Given the description of an element on the screen output the (x, y) to click on. 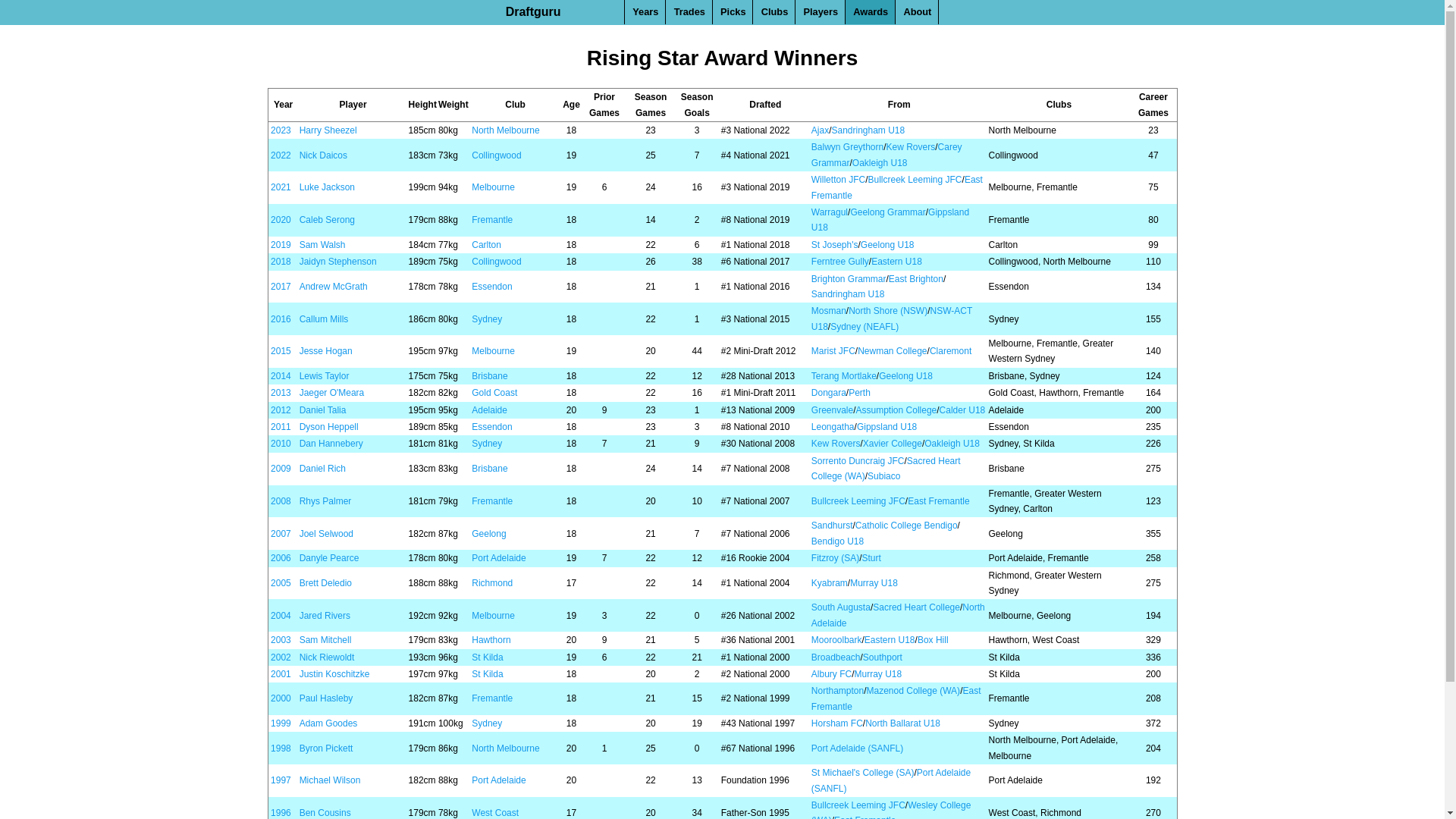
2023 Element type: text (280, 130)
Justin Koschitzke Element type: text (334, 673)
Sydney Element type: text (486, 443)
Willetton JFC Element type: text (838, 179)
Claremont Element type: text (950, 350)
2004 Element type: text (280, 615)
South Augusta Element type: text (840, 607)
Adam Goodes Element type: text (328, 723)
Ben Cousins Element type: text (325, 812)
Port Adelaide (SANFL) Element type: text (857, 748)
Mosman Element type: text (828, 310)
Fremantle Element type: text (491, 219)
Melbourne Element type: text (492, 615)
Oakleigh U18 Element type: text (879, 162)
2007 Element type: text (280, 533)
St Kilda Element type: text (486, 657)
Fremantle Element type: text (491, 698)
Luke Jackson Element type: text (326, 187)
Adelaide Element type: text (489, 409)
Sturt Element type: text (870, 557)
2017 Element type: text (280, 286)
Box Hill Element type: text (932, 639)
1997 Element type: text (280, 780)
Kyabram Element type: text (829, 582)
Years Element type: text (645, 12)
2013 Element type: text (280, 392)
Paul Hasleby Element type: text (326, 698)
Bendigo U18 Element type: text (837, 541)
2003 Element type: text (280, 639)
2000 Element type: text (280, 698)
Perth Element type: text (859, 392)
2018 Element type: text (280, 261)
Players Element type: text (820, 12)
Sydney (NEAFL) Element type: text (864, 326)
St Kilda Element type: text (486, 673)
Jaeger O'Meara Element type: text (331, 392)
Sandringham U18 Element type: text (847, 293)
Essendon Element type: text (491, 426)
Nick Riewoldt Element type: text (326, 657)
Callum Mills Element type: text (323, 318)
Kew Rovers Element type: text (835, 443)
Mooroolbark Element type: text (836, 639)
Melbourne Element type: text (492, 187)
Sandhurst Element type: text (832, 525)
Sacred Heart College Element type: text (916, 607)
Daniel Rich Element type: text (322, 468)
Sacred Heart College (WA) Element type: text (885, 468)
2020 Element type: text (280, 219)
Sydney Element type: text (486, 318)
2019 Element type: text (280, 244)
Horsham FC Element type: text (836, 723)
Sydney Element type: text (486, 723)
Sorrento Duncraig JFC Element type: text (857, 460)
Marist JFC Element type: text (833, 350)
Sam Mitchell Element type: text (325, 639)
Brisbane Element type: text (489, 375)
Geelong U18 Element type: text (905, 375)
Jared Rivers Element type: text (324, 615)
Gippsland U18 Element type: text (886, 426)
2009 Element type: text (280, 468)
Southport Element type: text (882, 657)
North Shore (NSW) Element type: text (887, 310)
Brisbane Element type: text (489, 468)
Melbourne Element type: text (492, 350)
Danyle Pearce Element type: text (329, 557)
Hawthorn Element type: text (490, 639)
East Brighton Element type: text (915, 278)
Michael Wilson Element type: text (329, 780)
Lewis Taylor Element type: text (324, 375)
Rhys Palmer Element type: text (325, 500)
Dongara Element type: text (828, 392)
Geelong U18 Element type: text (887, 244)
Dan Hannebery Element type: text (331, 443)
2005 Element type: text (280, 582)
2021 Element type: text (280, 187)
Newman College Element type: text (891, 350)
St Joseph's Element type: text (834, 244)
North Ballarat U18 Element type: text (902, 723)
NSW-ACT U18 Element type: text (891, 318)
Kew Rovers Element type: text (910, 146)
Geelong Element type: text (488, 533)
Xavier College Element type: text (892, 443)
1999 Element type: text (280, 723)
Carey Grammar Element type: text (886, 154)
Bullcreek Leeming JFC Element type: text (858, 500)
Brighton Grammar Element type: text (848, 278)
Eastern U18 Element type: text (896, 261)
East Fremantle Element type: text (896, 698)
Terang Mortlake Element type: text (843, 375)
2006 Element type: text (280, 557)
Assumption College Element type: text (896, 409)
Sam Walsh Element type: text (322, 244)
2008 Element type: text (280, 500)
2016 Element type: text (280, 318)
Albury FC Element type: text (831, 673)
Mazenod College (WA) Element type: text (913, 690)
Bullcreek Leeming JFC Element type: text (914, 179)
Carlton Element type: text (486, 244)
St Michael's College (SA) Element type: text (862, 772)
Ajax Element type: text (819, 130)
North Melbourne Element type: text (505, 748)
Brett Deledio Element type: text (325, 582)
2014 Element type: text (280, 375)
Awards Element type: text (870, 12)
Bullcreek Leeming JFC Element type: text (858, 805)
Collingwood Element type: text (495, 155)
Clubs Element type: text (774, 12)
Gippsland U18 Element type: text (890, 219)
Calder U18 Element type: text (962, 409)
2001 Element type: text (280, 673)
Draftguru Element type: text (533, 12)
Port Adelaide (SANFL) Element type: text (890, 780)
Jaidyn Stephenson Element type: text (337, 261)
Geelong Grammar Element type: text (887, 212)
Richmond Element type: text (491, 582)
Byron Pickett Element type: text (326, 748)
Northampton Element type: text (837, 690)
Ferntree Gully Element type: text (840, 261)
Harry Sheezel Element type: text (328, 130)
2015 Element type: text (280, 350)
Daniel Talia Element type: text (322, 409)
Murray U18 Element type: text (873, 582)
2011 Element type: text (280, 426)
Port Adelaide Element type: text (498, 780)
Catholic College Bendigo Element type: text (906, 525)
East Fremantle Element type: text (896, 187)
Eastern U18 Element type: text (889, 639)
Essendon Element type: text (491, 286)
Greenvale Element type: text (832, 409)
Sandringham U18 Element type: text (867, 130)
Balwyn Greythorn Element type: text (847, 146)
Collingwood Element type: text (495, 261)
Oakleigh U18 Element type: text (951, 443)
Caleb Serong Element type: text (326, 219)
Leongatha Element type: text (832, 426)
North Adelaide Element type: text (898, 614)
2022 Element type: text (280, 155)
Subiaco Element type: text (883, 475)
2010 Element type: text (280, 443)
North Melbourne Element type: text (505, 130)
About Element type: text (917, 12)
1998 Element type: text (280, 748)
East Fremantle Element type: text (938, 500)
Port Adelaide Element type: text (498, 557)
1996 Element type: text (280, 812)
Joel Selwood Element type: text (326, 533)
Dyson Heppell Element type: text (328, 426)
2012 Element type: text (280, 409)
Warragul Element type: text (829, 212)
Andrew McGrath Element type: text (333, 286)
Fremantle Element type: text (491, 500)
Jesse Hogan Element type: text (325, 350)
Fitzroy (SA) Element type: text (835, 557)
Nick Daicos Element type: text (323, 155)
Murray U18 Element type: text (877, 673)
Broadbeach Element type: text (835, 657)
2002 Element type: text (280, 657)
West Coast Element type: text (494, 812)
Picks Element type: text (732, 12)
Gold Coast Element type: text (494, 392)
Trades Element type: text (689, 12)
